Given the description of an element on the screen output the (x, y) to click on. 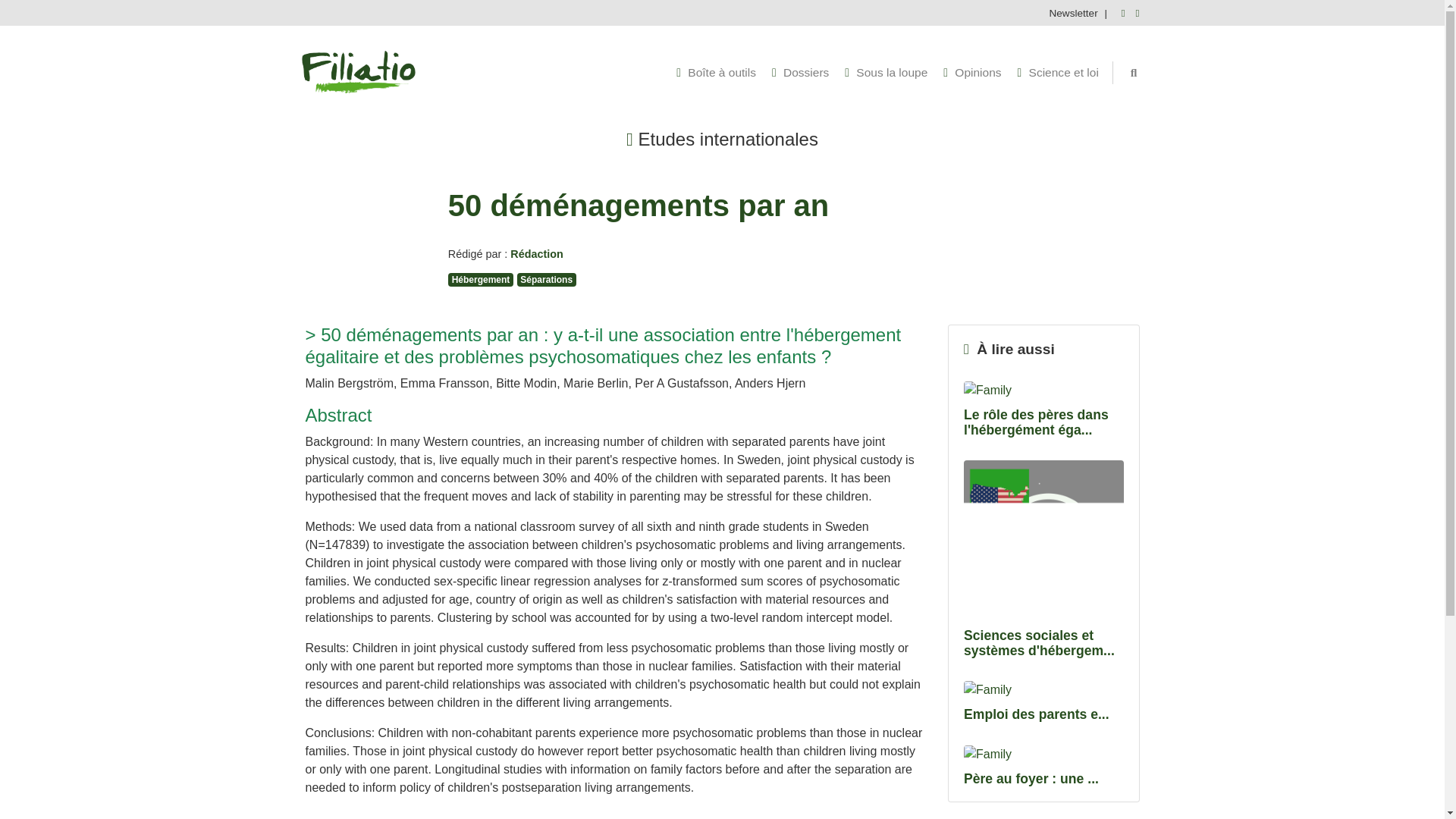
Newsletter (1071, 12)
Sous la loupe (885, 73)
Science et loi (1058, 73)
Academia.edu (1134, 12)
Opinions (972, 73)
Facebook (1119, 12)
Dossiers (799, 73)
